Given the description of an element on the screen output the (x, y) to click on. 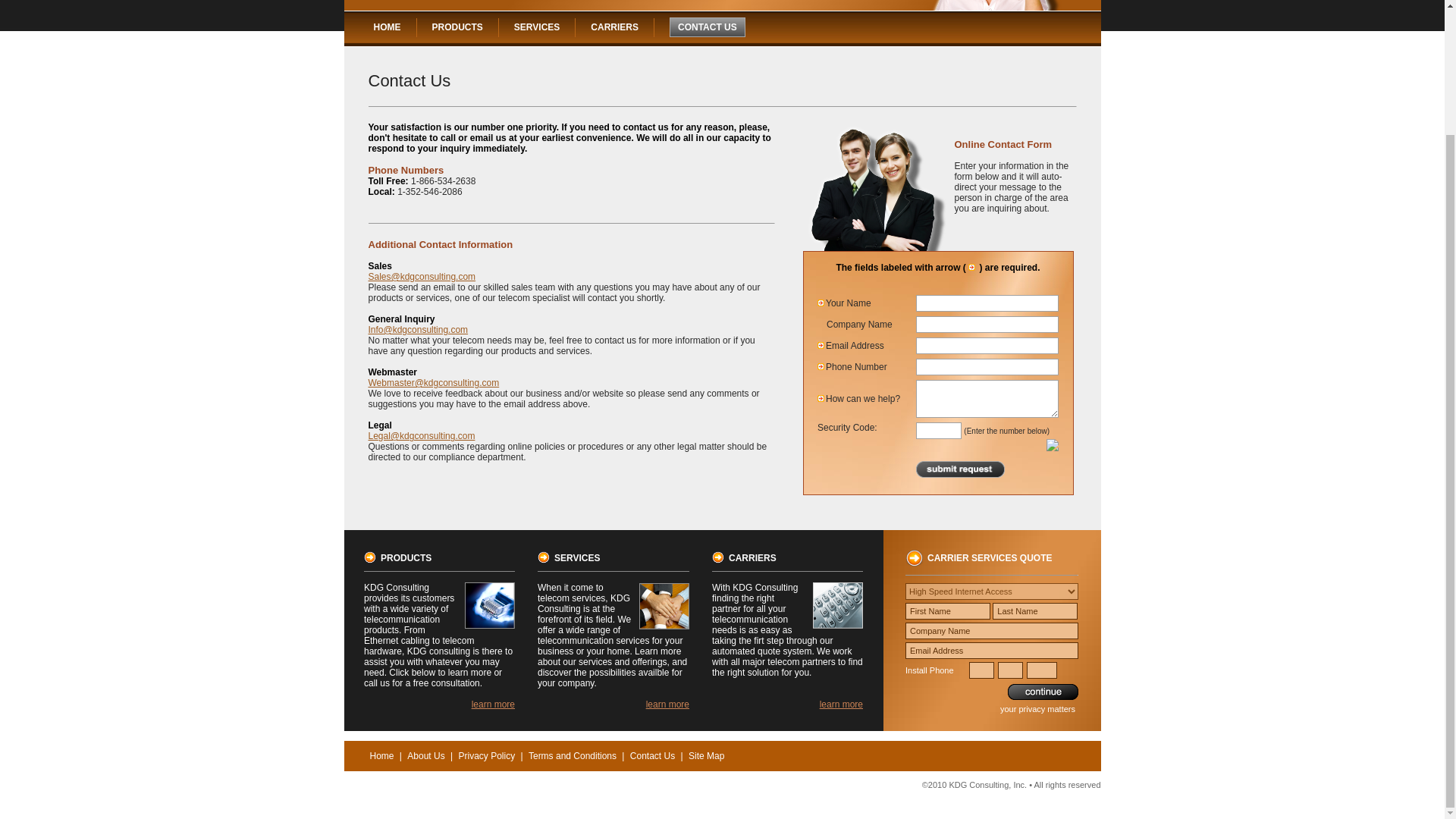
Home (381, 756)
learn more (667, 704)
Contact Us (652, 756)
Company Name (991, 630)
SERVICES (536, 27)
Terms and Conditions (572, 756)
CARRIERS (615, 27)
Privacy Policy (486, 756)
learn more (841, 704)
Site Map (705, 756)
